Given the description of an element on the screen output the (x, y) to click on. 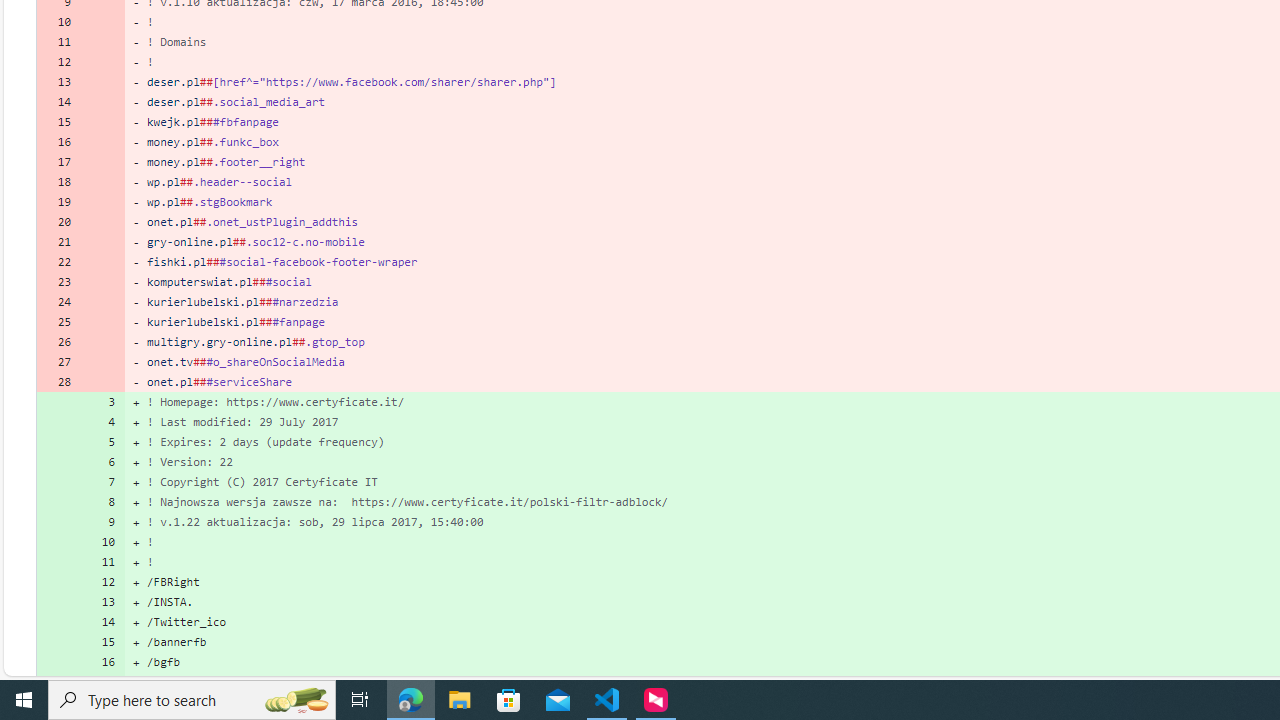
20 (58, 221)
12 (102, 581)
5 (102, 442)
10 (102, 542)
18 (58, 182)
3 (102, 401)
17 (102, 681)
4 (102, 421)
13 (102, 601)
24 (58, 301)
16 (102, 661)
6 (102, 462)
8 (102, 501)
